Given the description of an element on the screen output the (x, y) to click on. 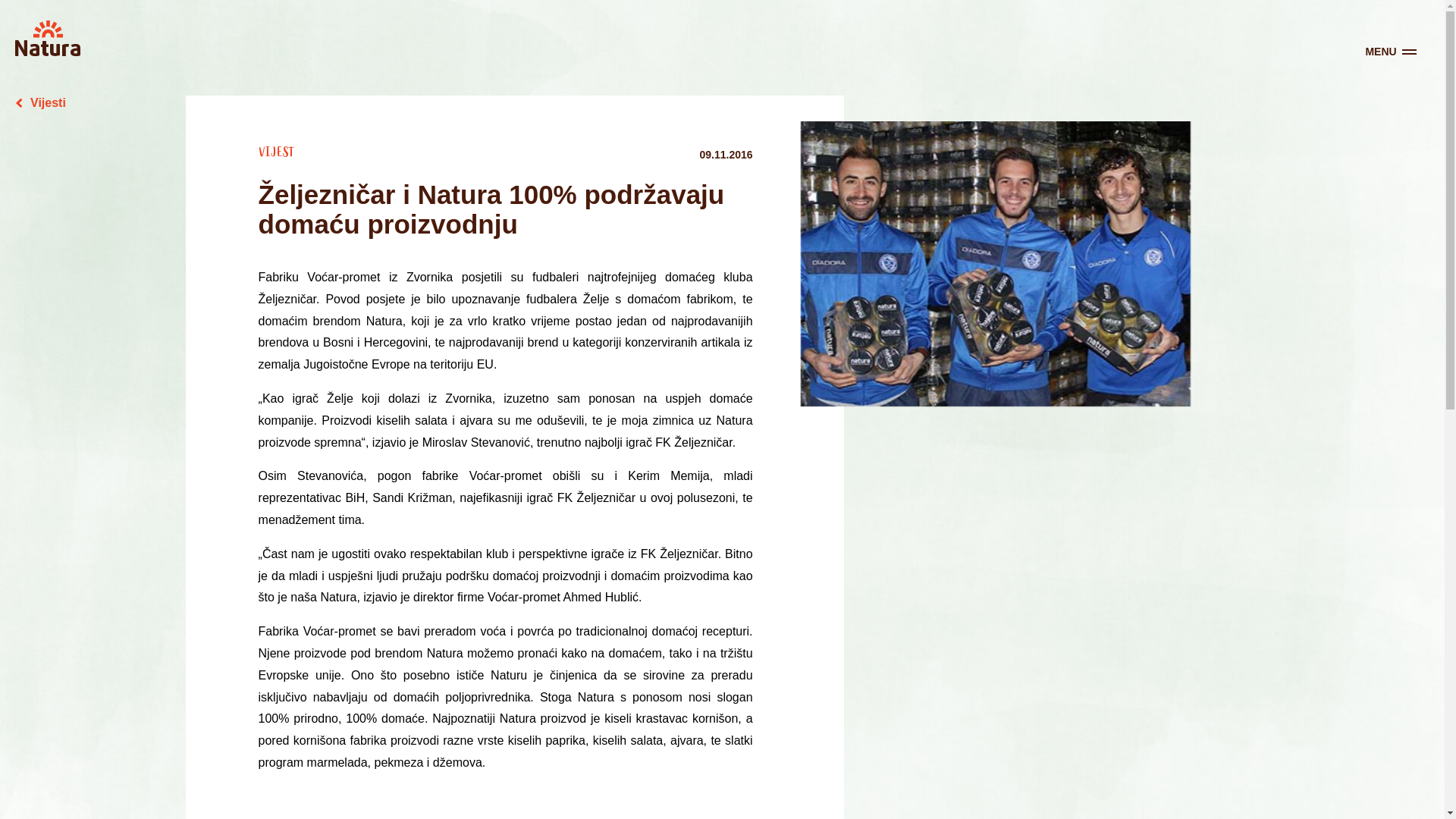
Vijesti Element type: text (40, 103)
